Given the description of an element on the screen output the (x, y) to click on. 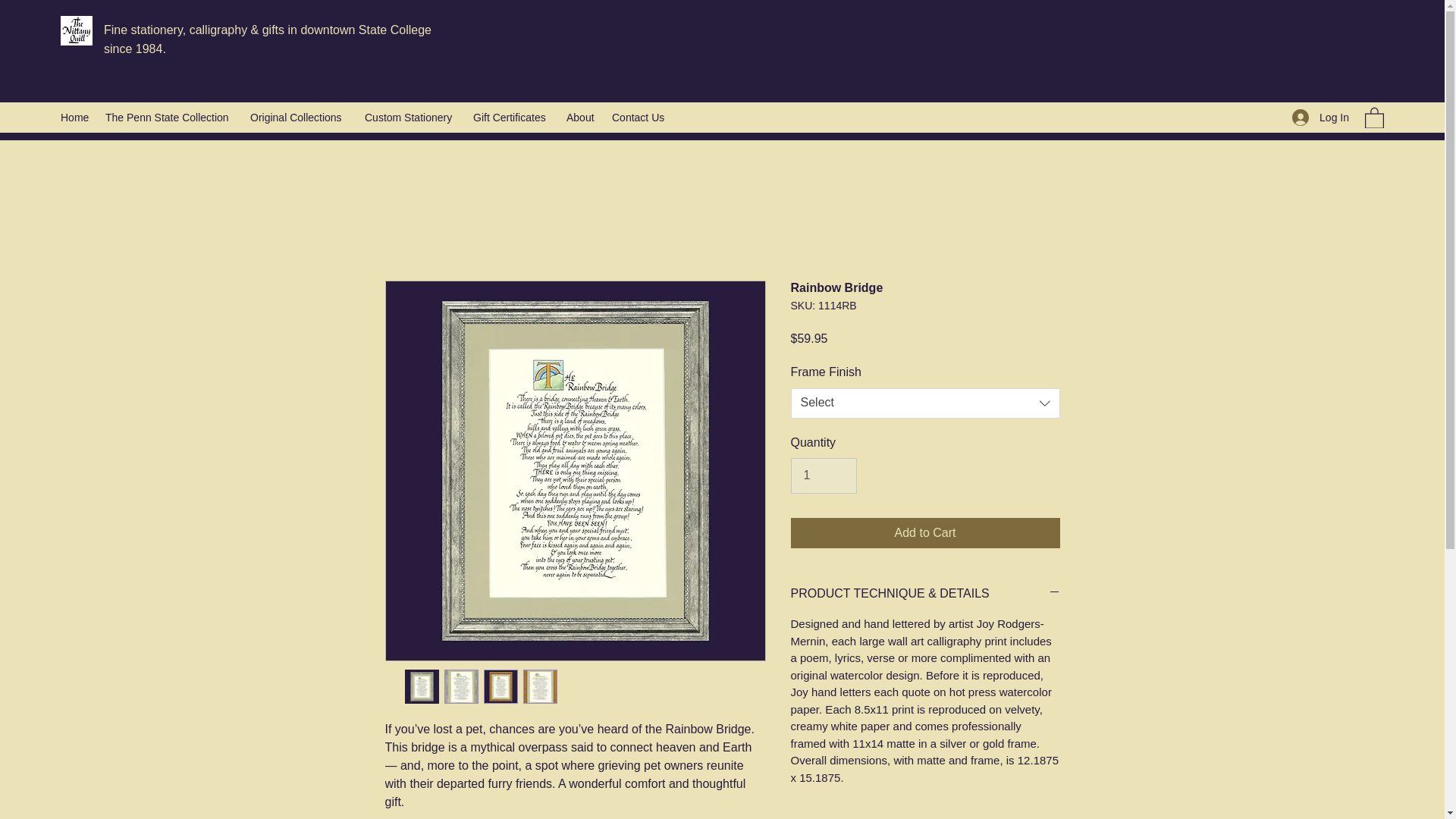
Gift Certificates (512, 117)
Home (74, 117)
About (581, 117)
Add to Cart (924, 532)
1 (823, 475)
Contact Us (639, 117)
Custom Stationery (410, 117)
Select (924, 403)
The Penn State Collection (170, 117)
Original Collections (299, 117)
Log In (1320, 117)
